Given the description of an element on the screen output the (x, y) to click on. 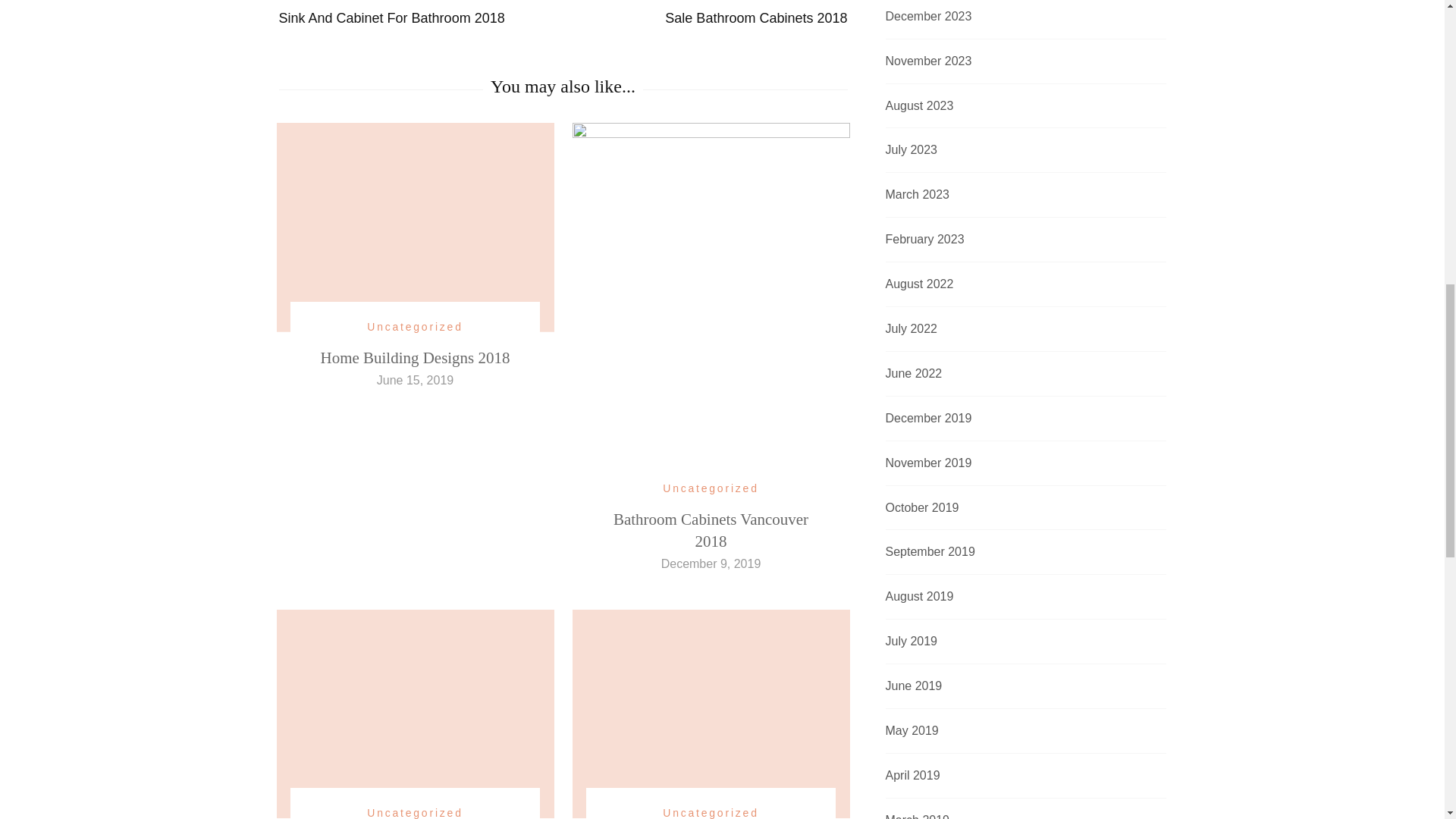
Bathroom Cabinets Vancouver 2018 (710, 530)
Uncategorized (415, 14)
August 2023 (710, 488)
Uncategorized (919, 106)
June 15, 2019 (711, 14)
Uncategorized (710, 811)
Uncategorized (414, 379)
November 2023 (414, 811)
July 2023 (414, 326)
Home Building Designs 2018 (928, 61)
December 9, 2019 (911, 149)
December 2023 (415, 357)
March 2023 (711, 563)
